Given the description of an element on the screen output the (x, y) to click on. 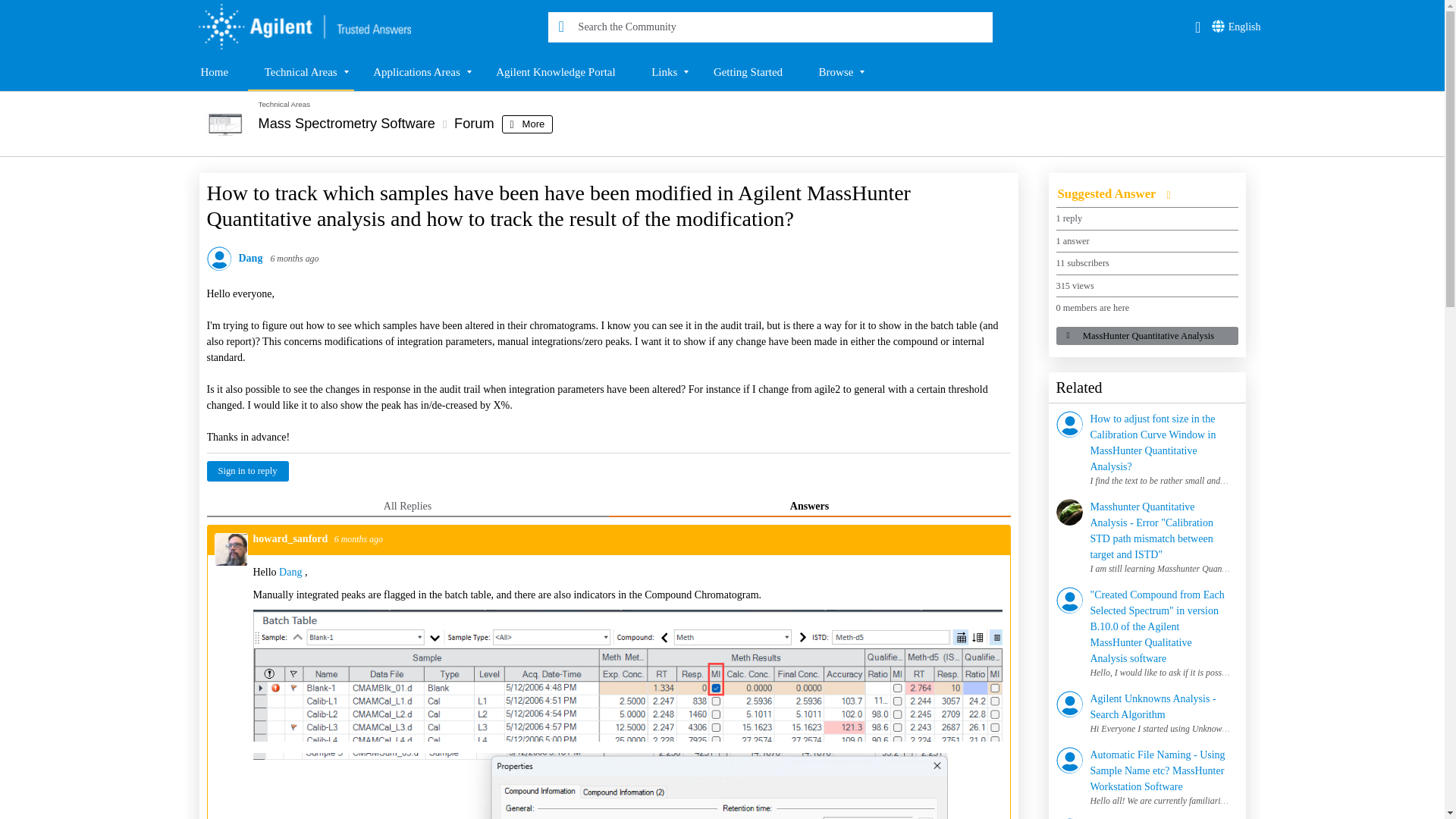
Home (213, 71)
Join or sign in (1198, 27)
English (1232, 26)
Technical Areas (300, 71)
Home (296, 26)
User (1198, 27)
